Given the description of an element on the screen output the (x, y) to click on. 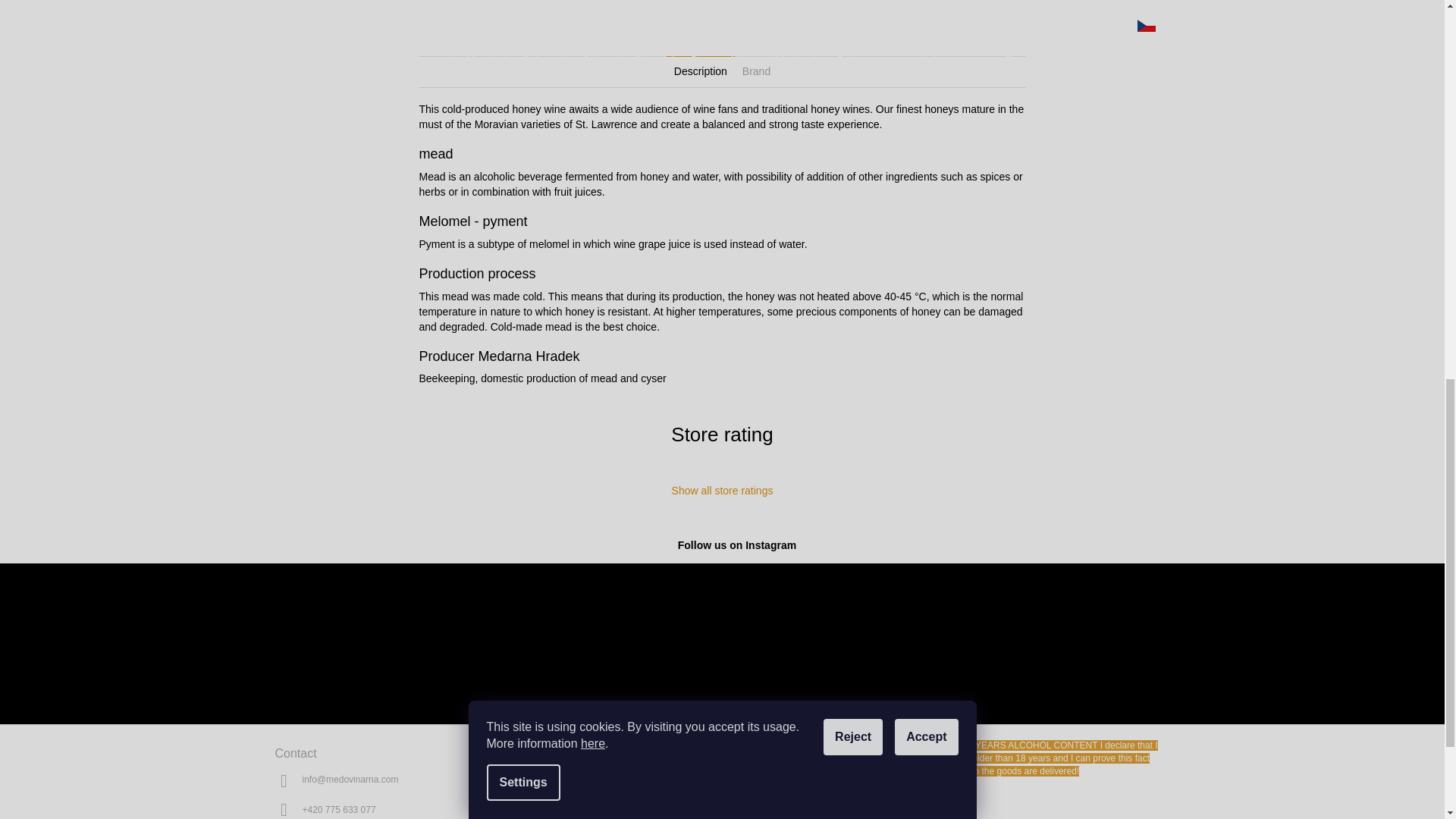
Phone (338, 809)
